Given the description of an element on the screen output the (x, y) to click on. 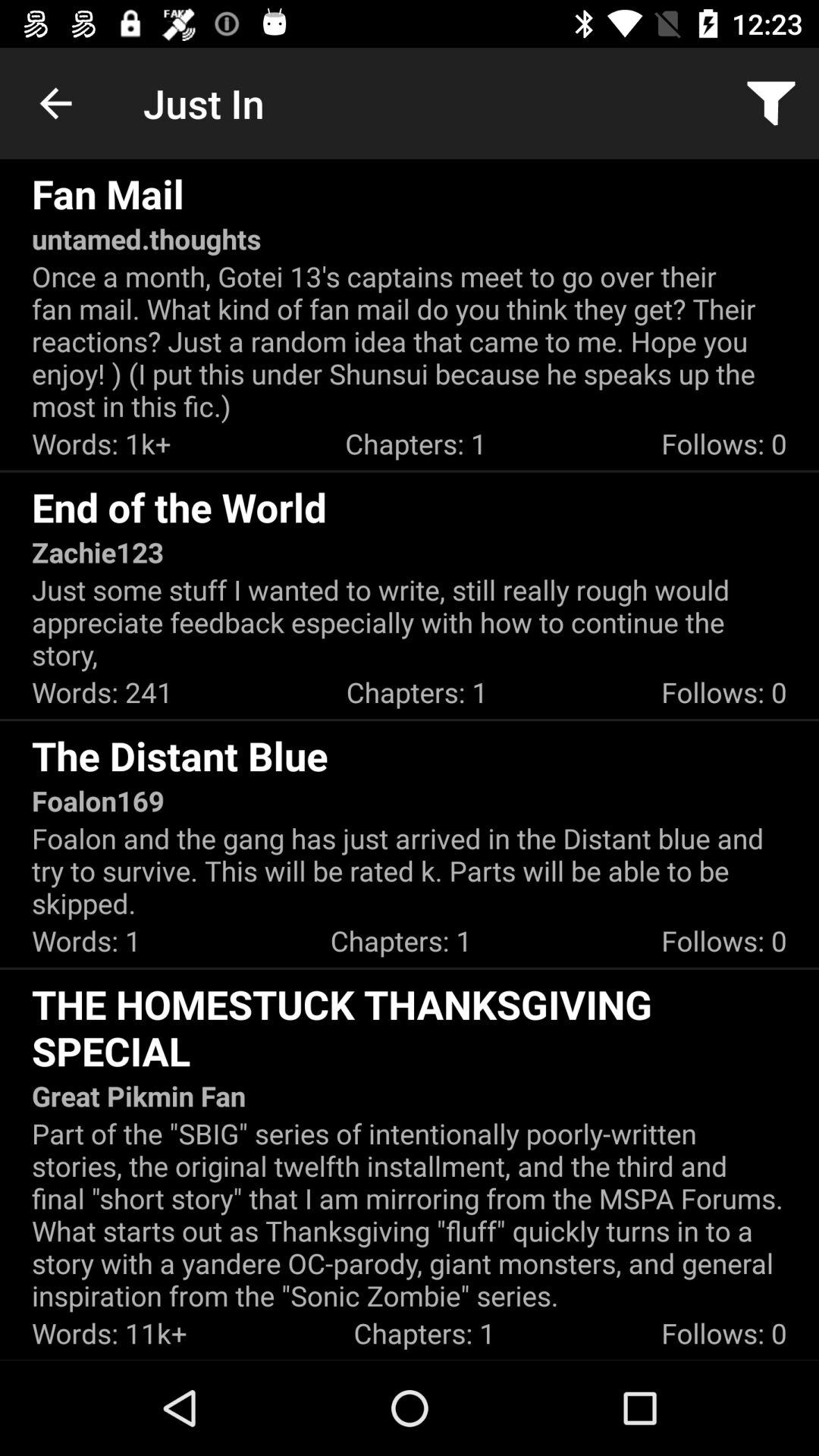
launch item next to just in item (55, 103)
